Given the description of an element on the screen output the (x, y) to click on. 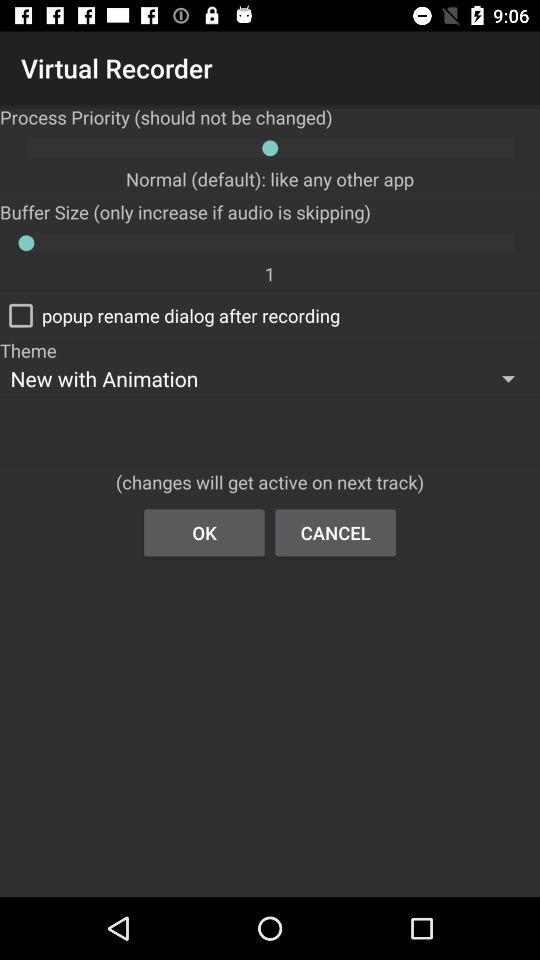
turn on icon below the changes will get app (204, 532)
